Given the description of an element on the screen output the (x, y) to click on. 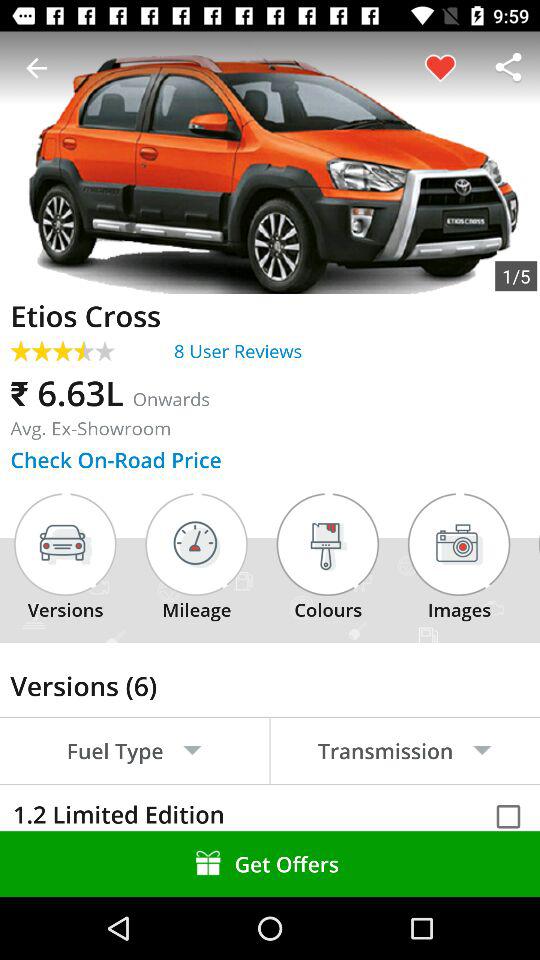
click the images icon (459, 544)
